Given the description of an element on the screen output the (x, y) to click on. 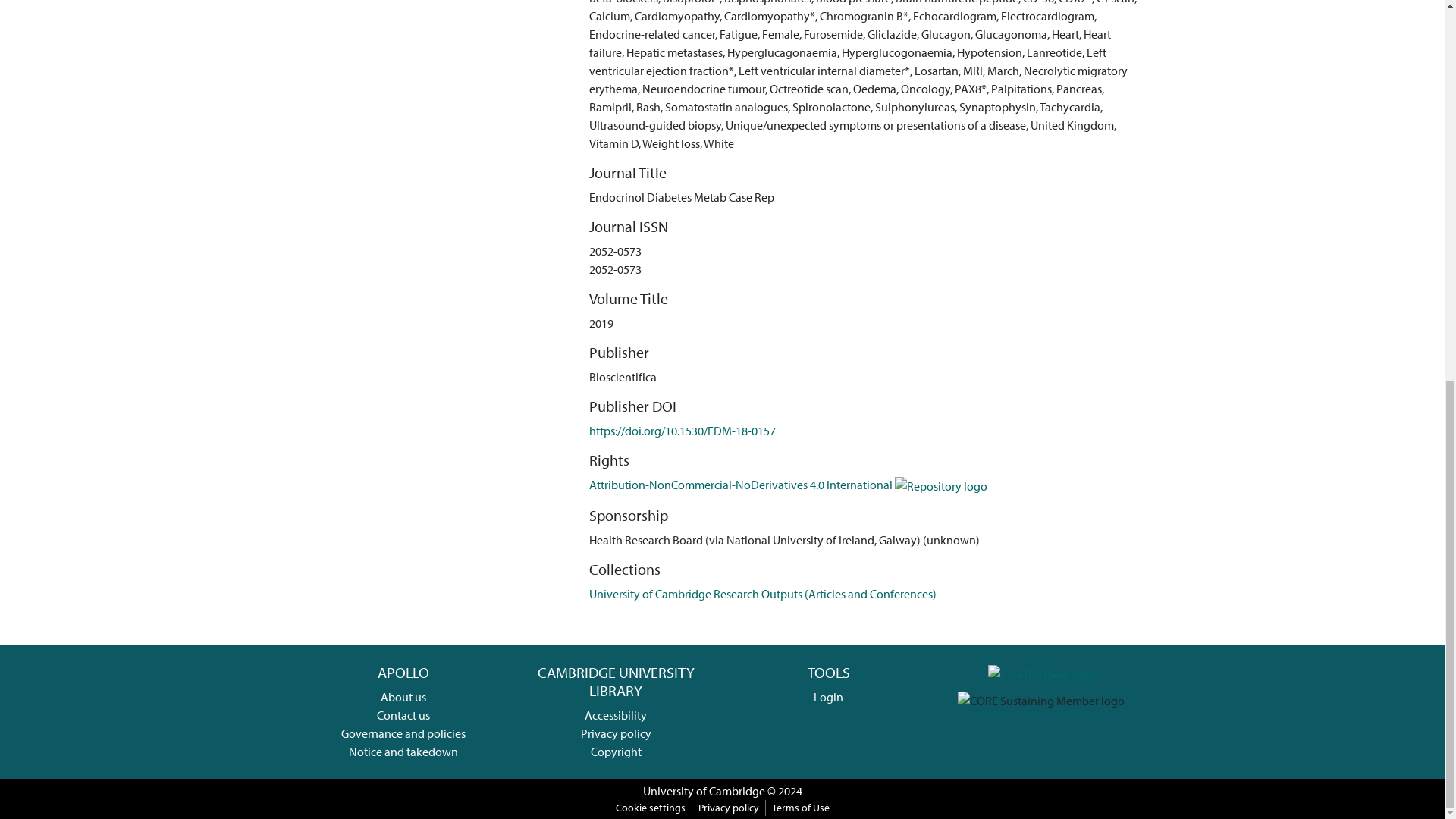
Attribution-NonCommercial-NoDerivatives 4.0 International (788, 484)
About us (403, 696)
Accessibility (615, 714)
Contact us (403, 714)
Governance and policies (402, 733)
Apollo CTS full application (1041, 672)
Notice and takedown (403, 751)
